Given the description of an element on the screen output the (x, y) to click on. 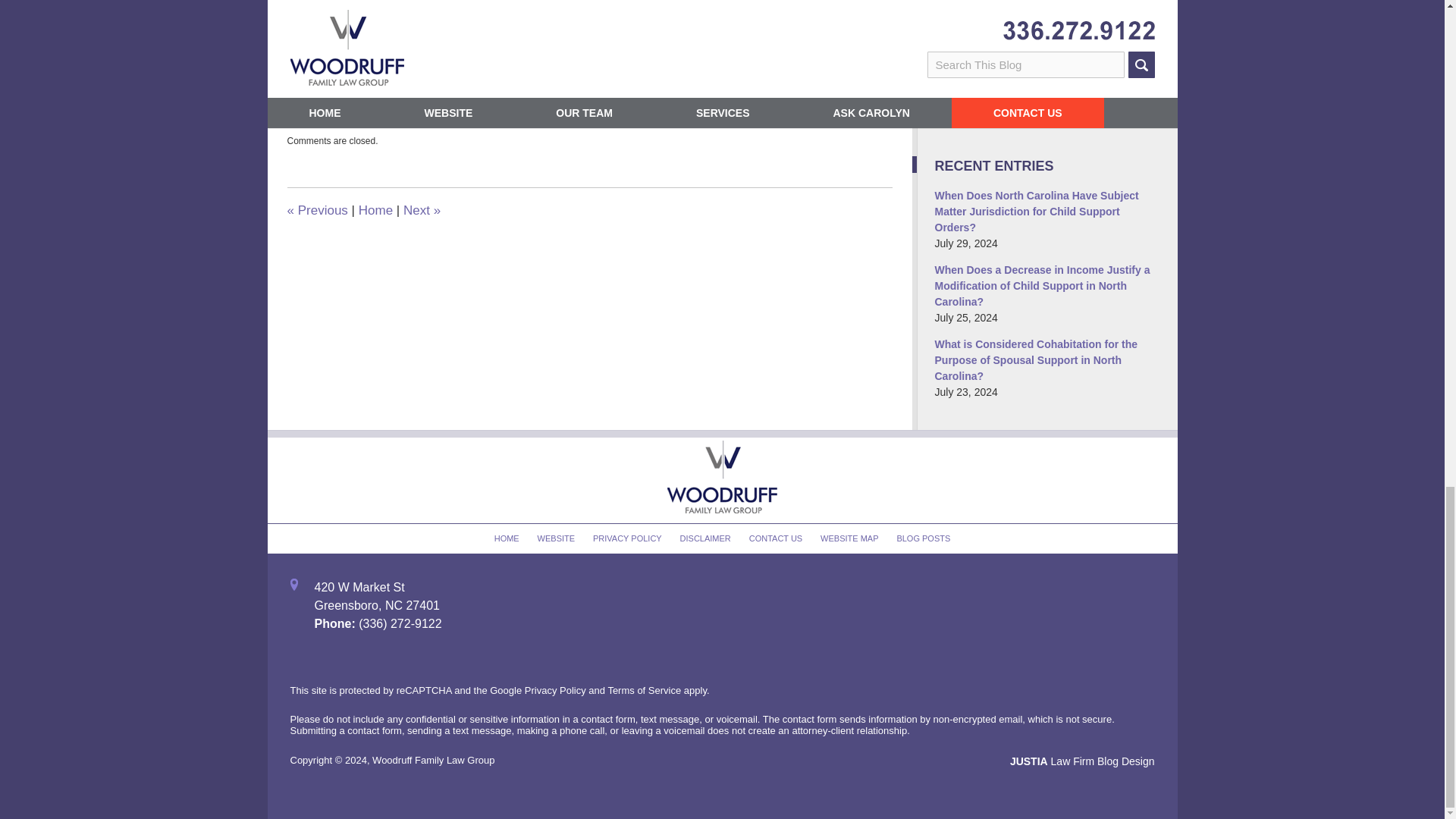
ClientVille (349, 104)
View all posts tagged with divorce lawyer (508, 118)
divorce lawyer (508, 118)
lawsuit (839, 118)
family law attorney (623, 118)
View all posts tagged with family law attorney (623, 118)
civil process (346, 118)
Divorce (444, 104)
View all posts tagged with lawsuit (839, 118)
Custody (392, 104)
View all posts tagged with family law (562, 118)
Disability Payments and Equitable Distribution (316, 210)
family lawyer (778, 118)
View all posts tagged with family law specialist (706, 118)
View all posts in Divorce (444, 104)
